Given the description of an element on the screen output the (x, y) to click on. 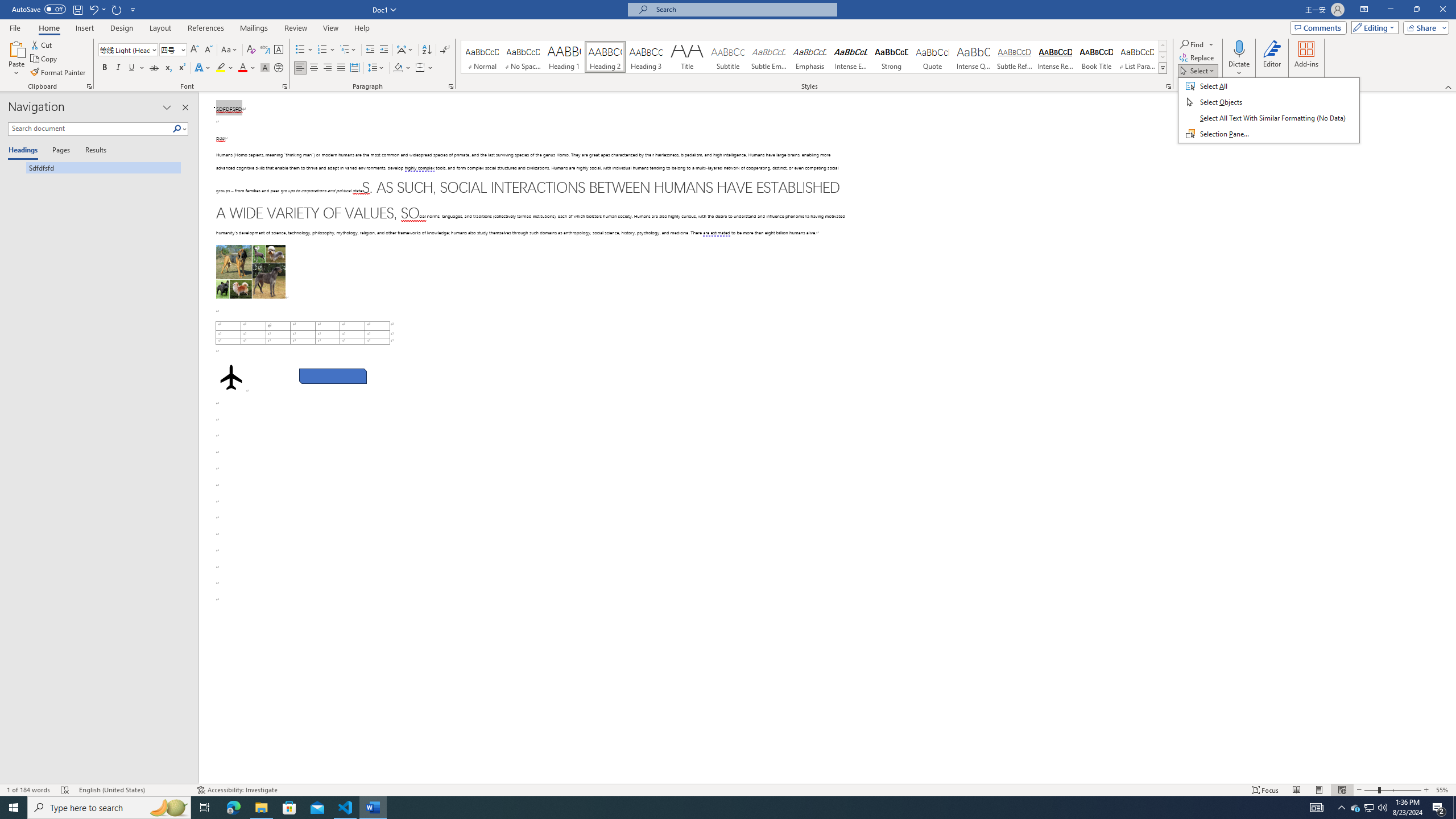
Intense Emphasis (849, 56)
Font Color Red (241, 67)
